Given the description of an element on the screen output the (x, y) to click on. 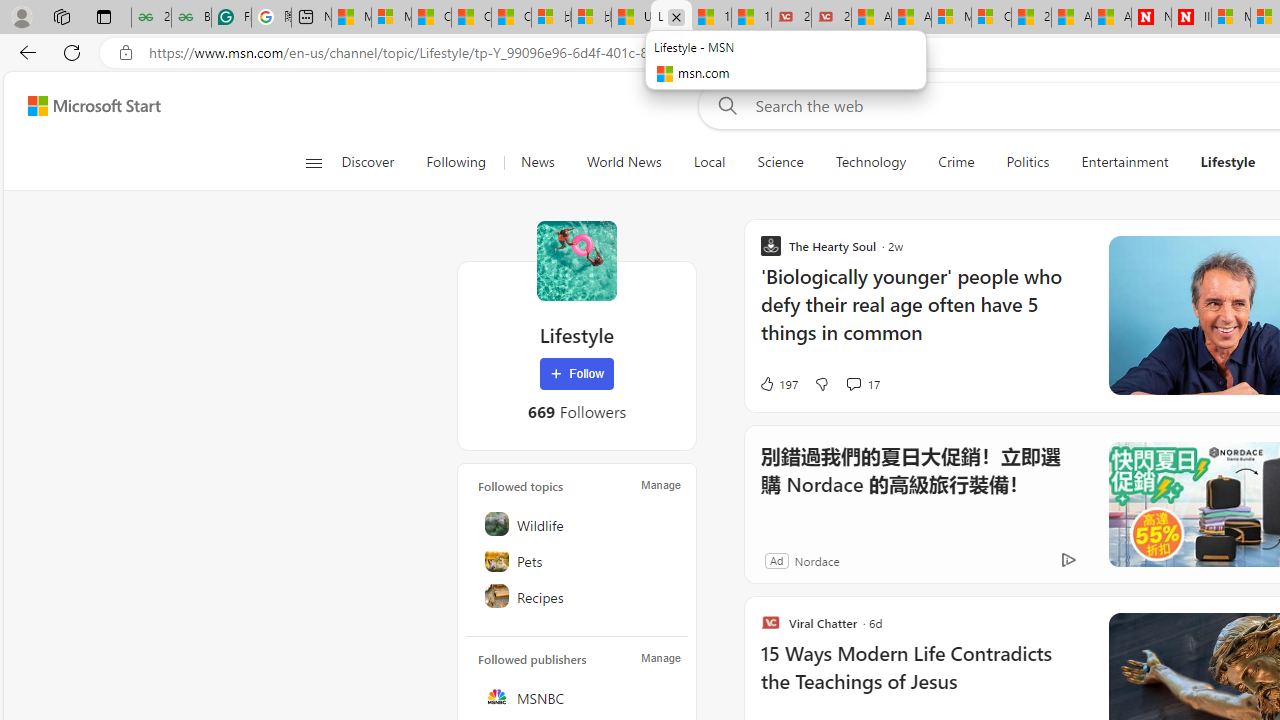
View comments 17 Comment (862, 384)
World News (623, 162)
Nordace (816, 560)
Follow (577, 373)
Technology (870, 162)
Following (456, 162)
Class: button-glyph (313, 162)
21 Movies That Outdid the Books They Were Based On (831, 17)
Discover (375, 162)
Ad Choice (1068, 560)
Following (457, 162)
Tab actions menu (104, 16)
Skip to content (86, 105)
